Given the description of an element on the screen output the (x, y) to click on. 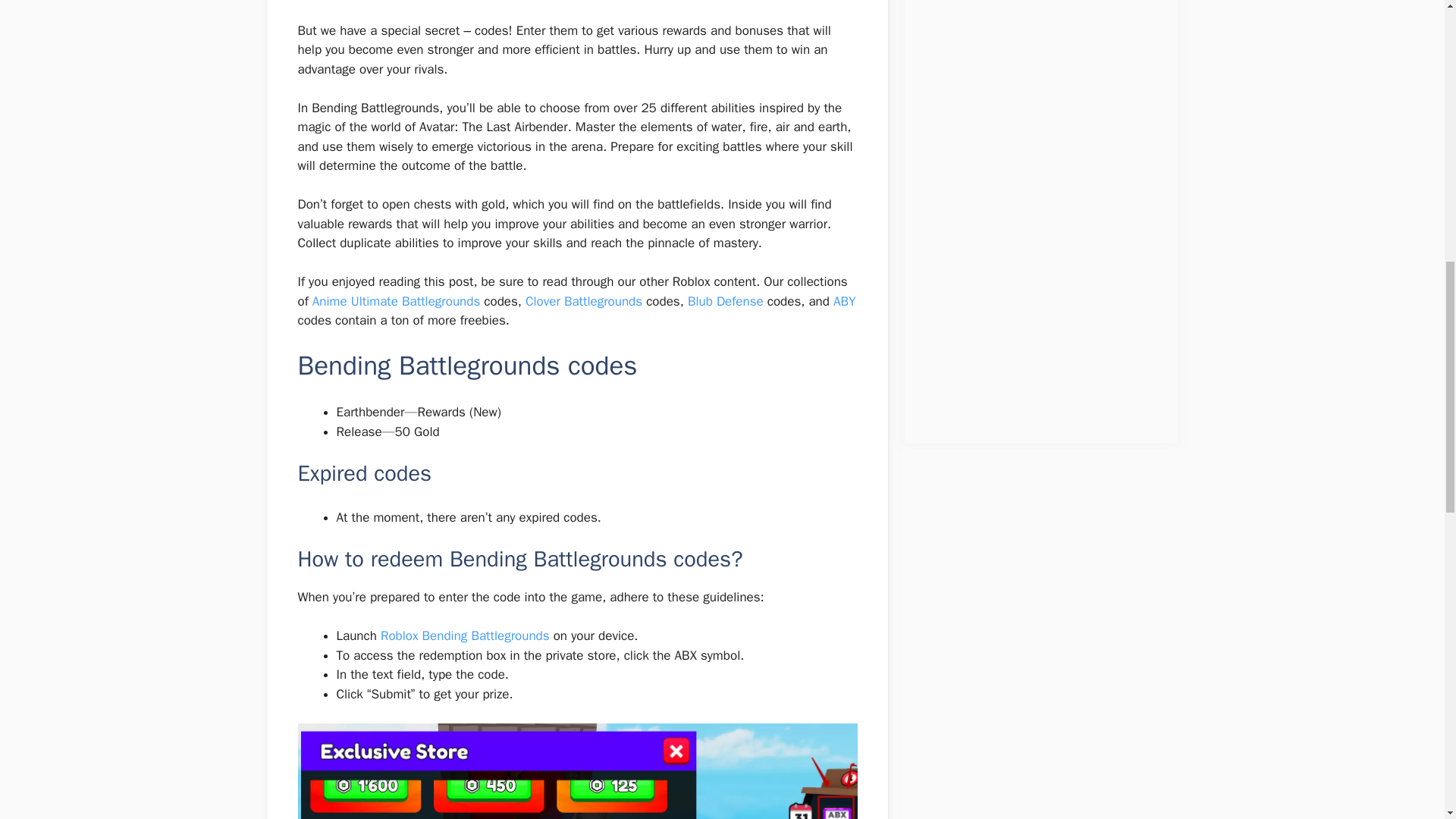
Roblox Bending Battlegrounds (465, 635)
Clover Battlegrounds (583, 301)
Blub Defense (724, 301)
Anime Ultimate Battlegrounds (396, 301)
ABY (844, 301)
